Given the description of an element on the screen output the (x, y) to click on. 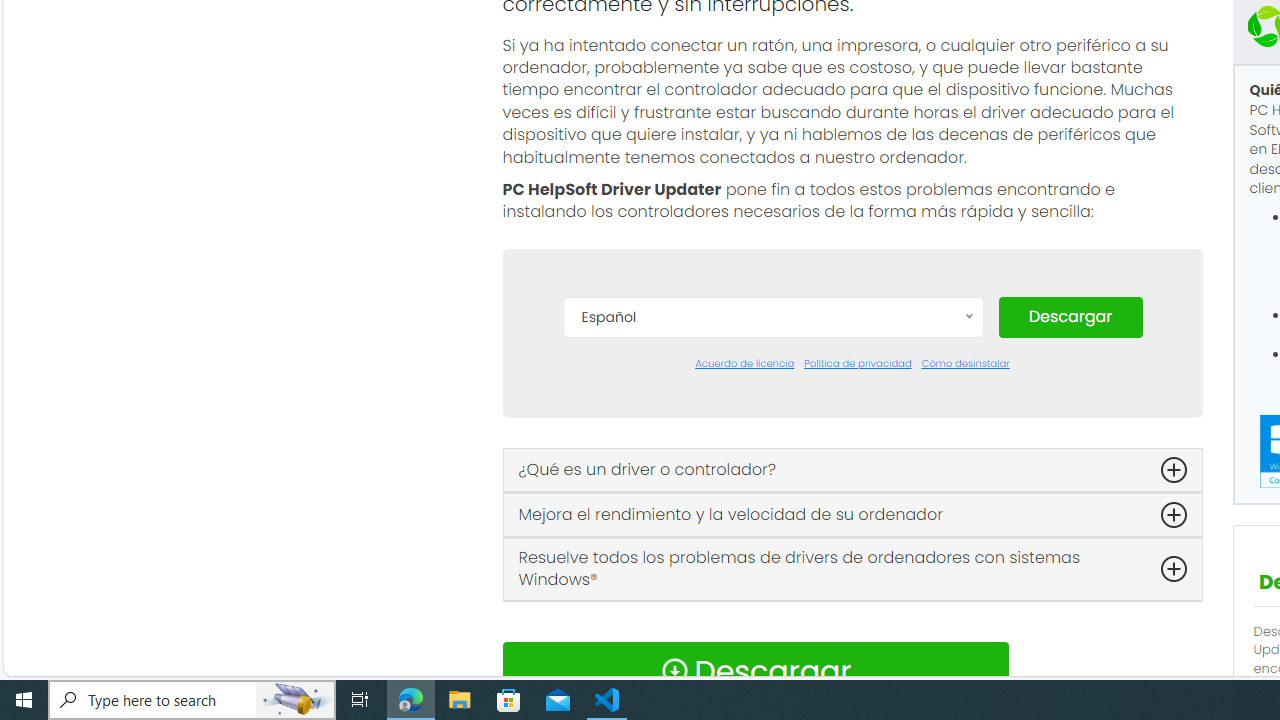
Download Icon Descargar (754, 670)
